Given the description of an element on the screen output the (x, y) to click on. 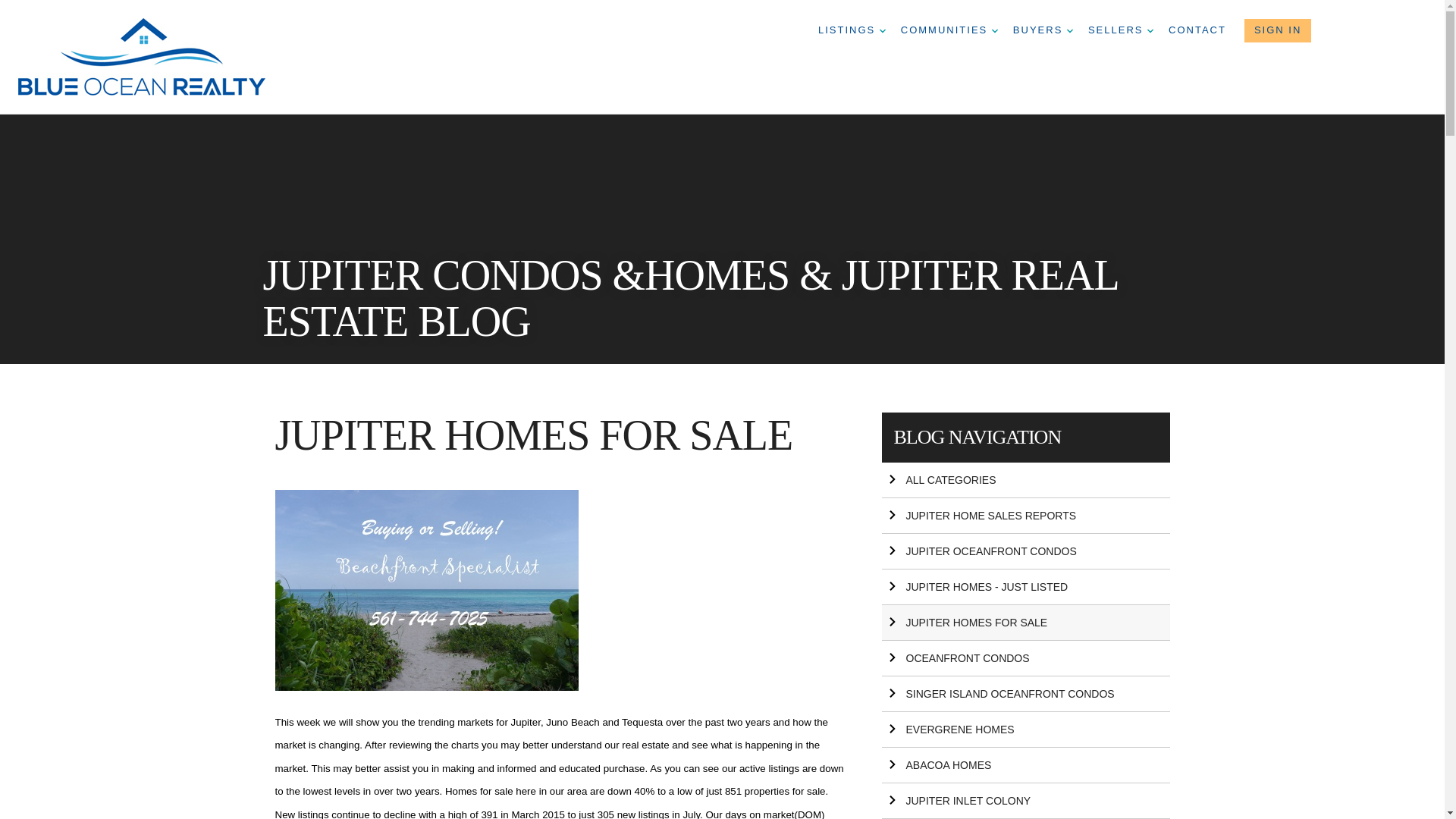
BUYERS DROPDOWN ARROW (1043, 30)
LISTINGS DROPDOWN ARROW (851, 30)
DROPDOWN ARROW (994, 30)
CONTACT (1197, 30)
DROPDOWN ARROW (882, 30)
DROPDOWN ARROW (1070, 30)
SELLERS DROPDOWN ARROW (1120, 30)
COMMUNITIES DROPDOWN ARROW (949, 30)
DROPDOWN ARROW (1150, 30)
